Given the description of an element on the screen output the (x, y) to click on. 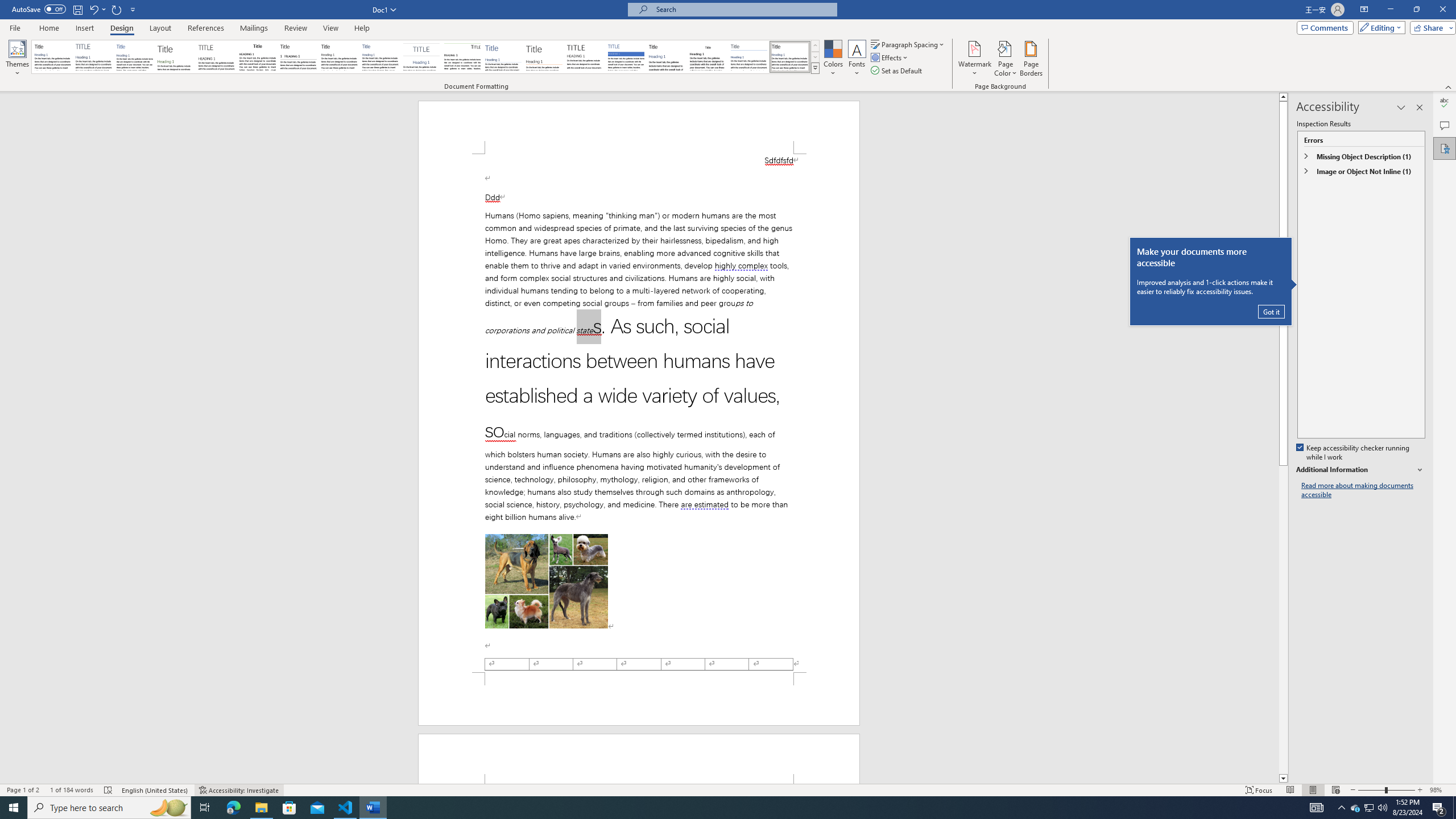
Lines (Stylish) (544, 56)
